Given the description of an element on the screen output the (x, y) to click on. 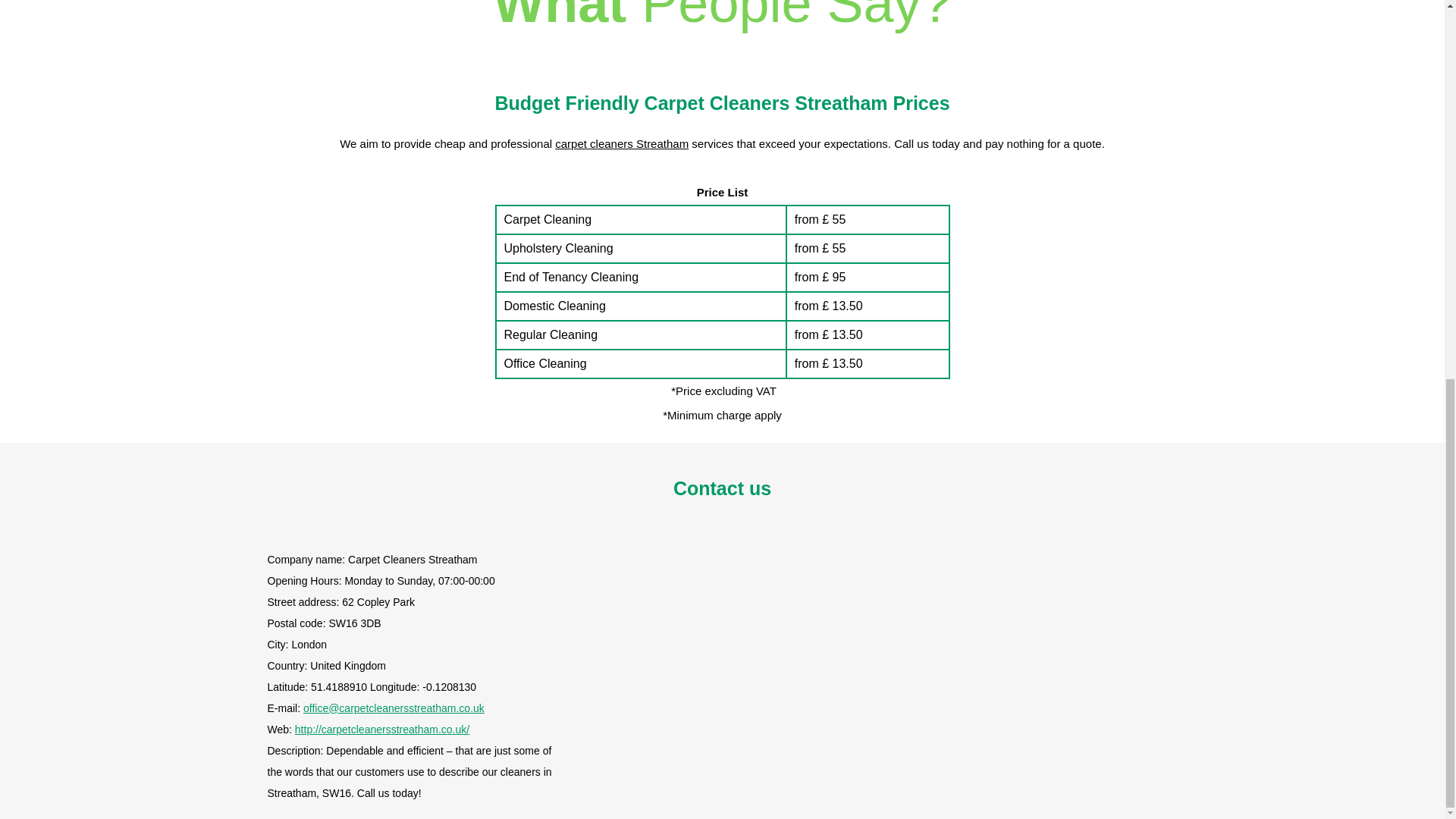
Send E-mail (393, 707)
